Given the description of an element on the screen output the (x, y) to click on. 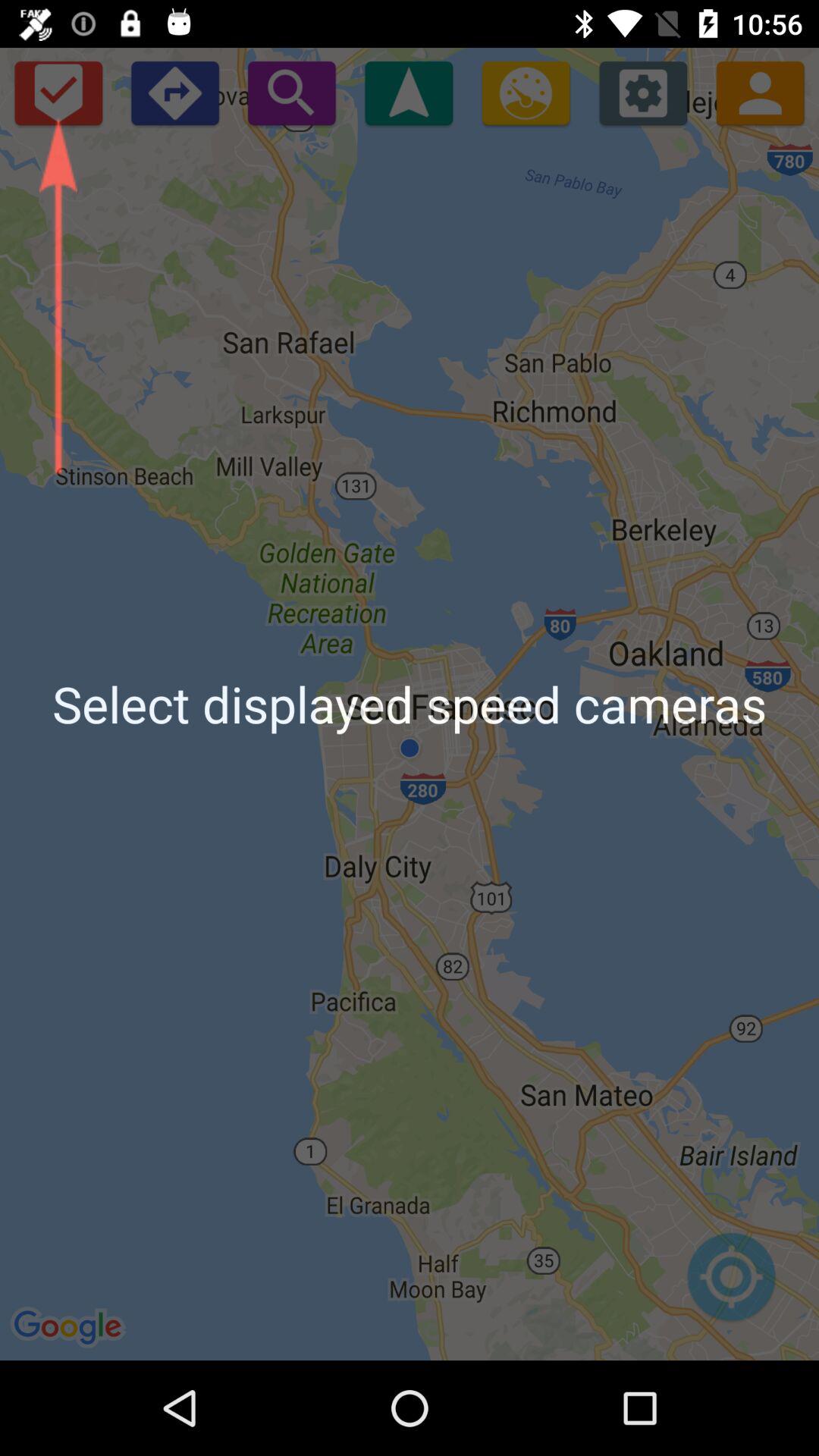
link for directions (174, 92)
